Given the description of an element on the screen output the (x, y) to click on. 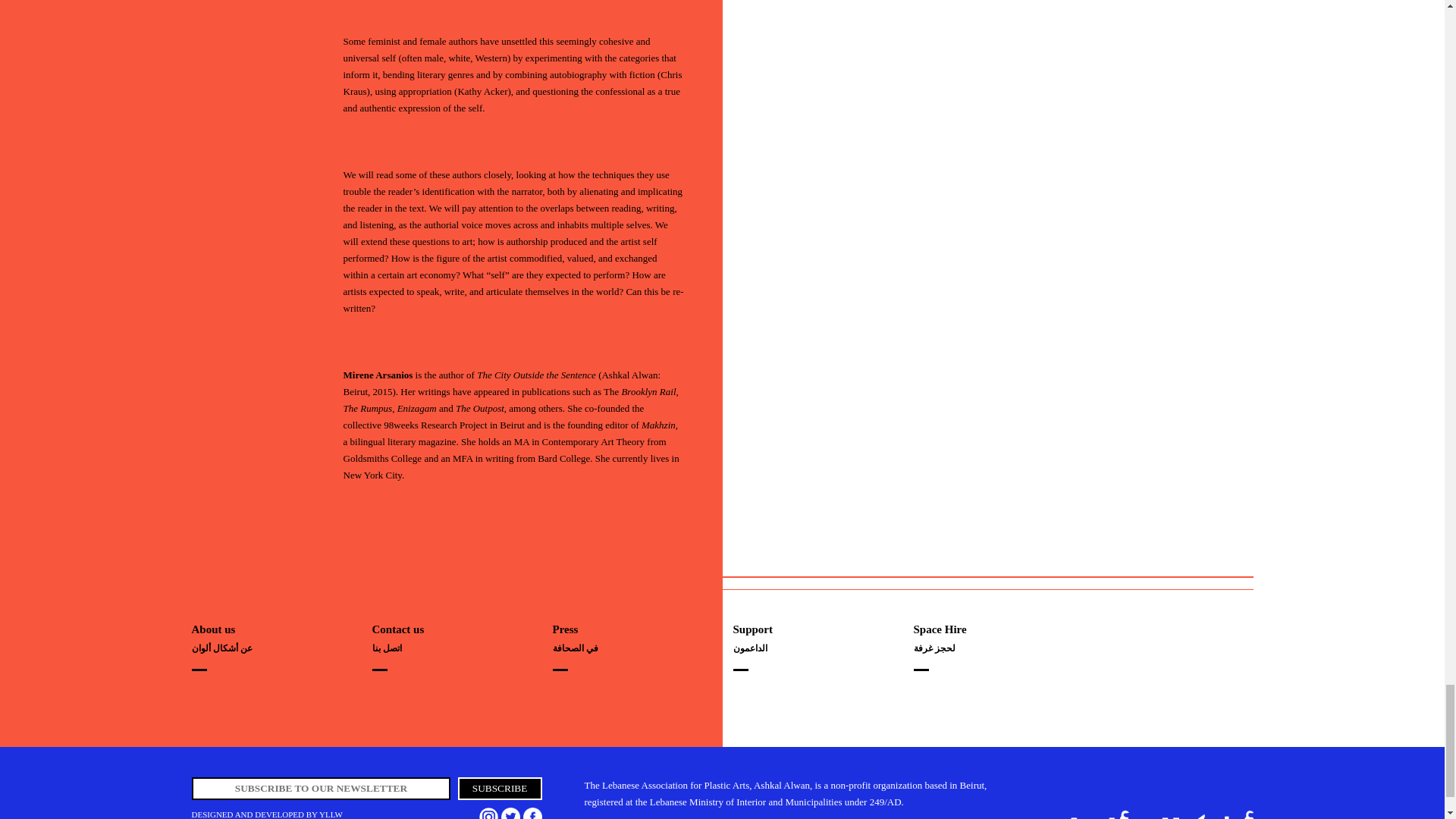
YLLW (330, 814)
Subscribe (499, 788)
Subscribe (499, 788)
